Given the description of an element on the screen output the (x, y) to click on. 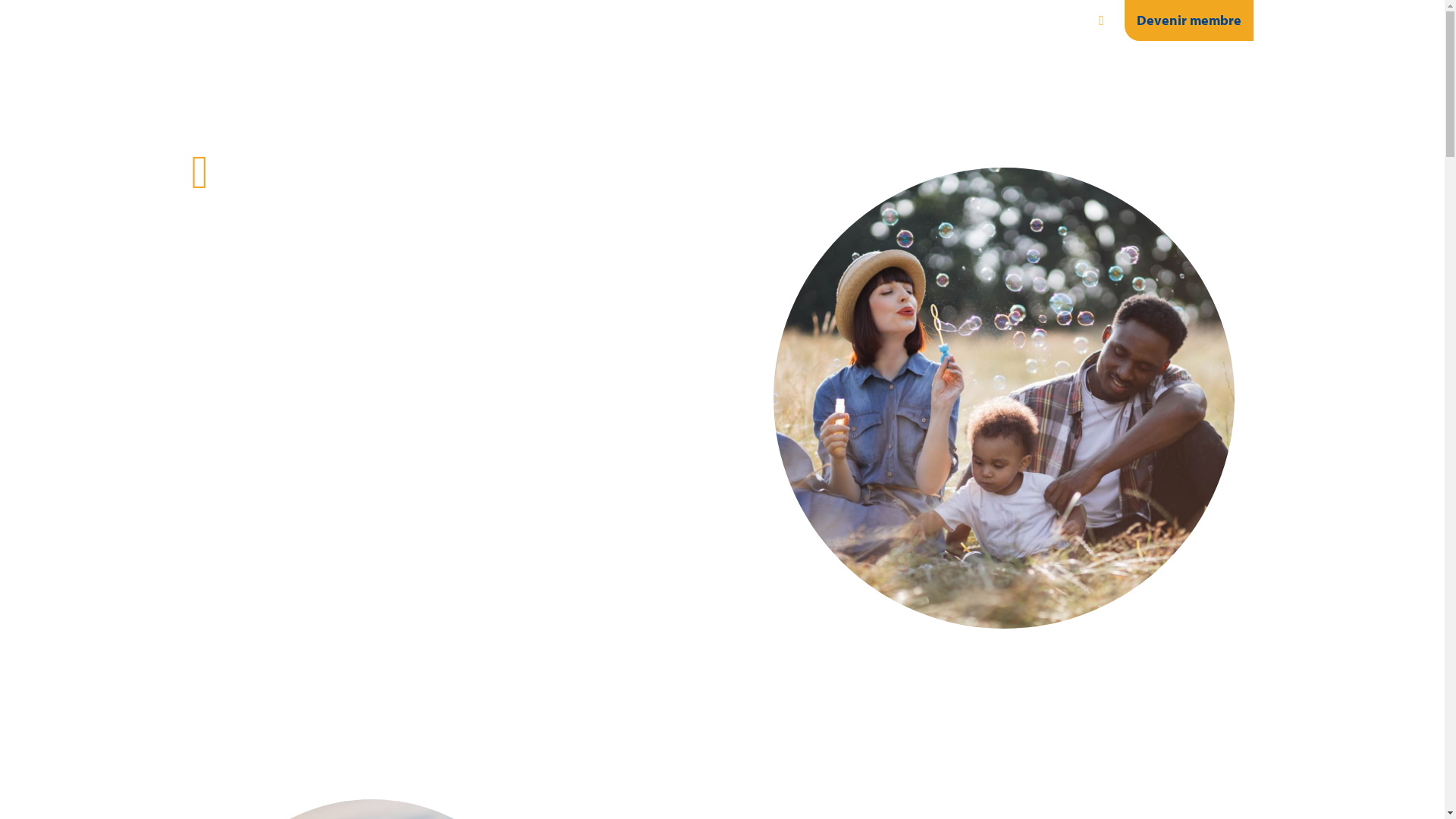
Parents Element type: text (741, 65)
Association francophone des parents du Nouveau-Brunswick Element type: text (237, 46)
Publications Element type: text (954, 65)
Accueil Element type: text (1100, 20)
Nous joindre Element type: text (1201, 65)
Formations et outils Element type: text (1078, 65)
Devenir membre Element type: text (1187, 20)
